Given the description of an element on the screen output the (x, y) to click on. 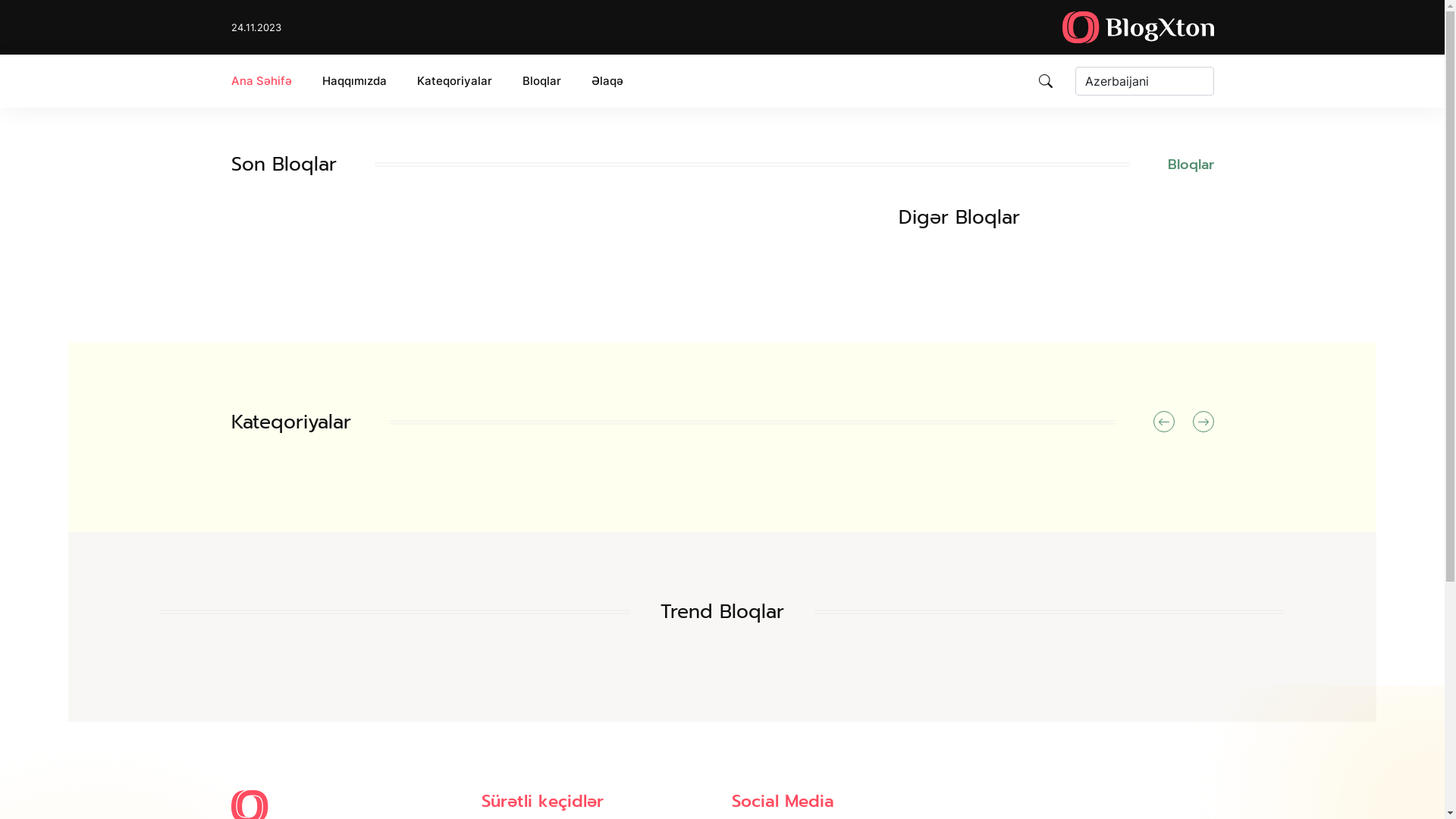
Kateqoriyalar Element type: text (454, 80)
Bloqlar Element type: text (540, 80)
Bloqlar Element type: text (1190, 164)
